Given the description of an element on the screen output the (x, y) to click on. 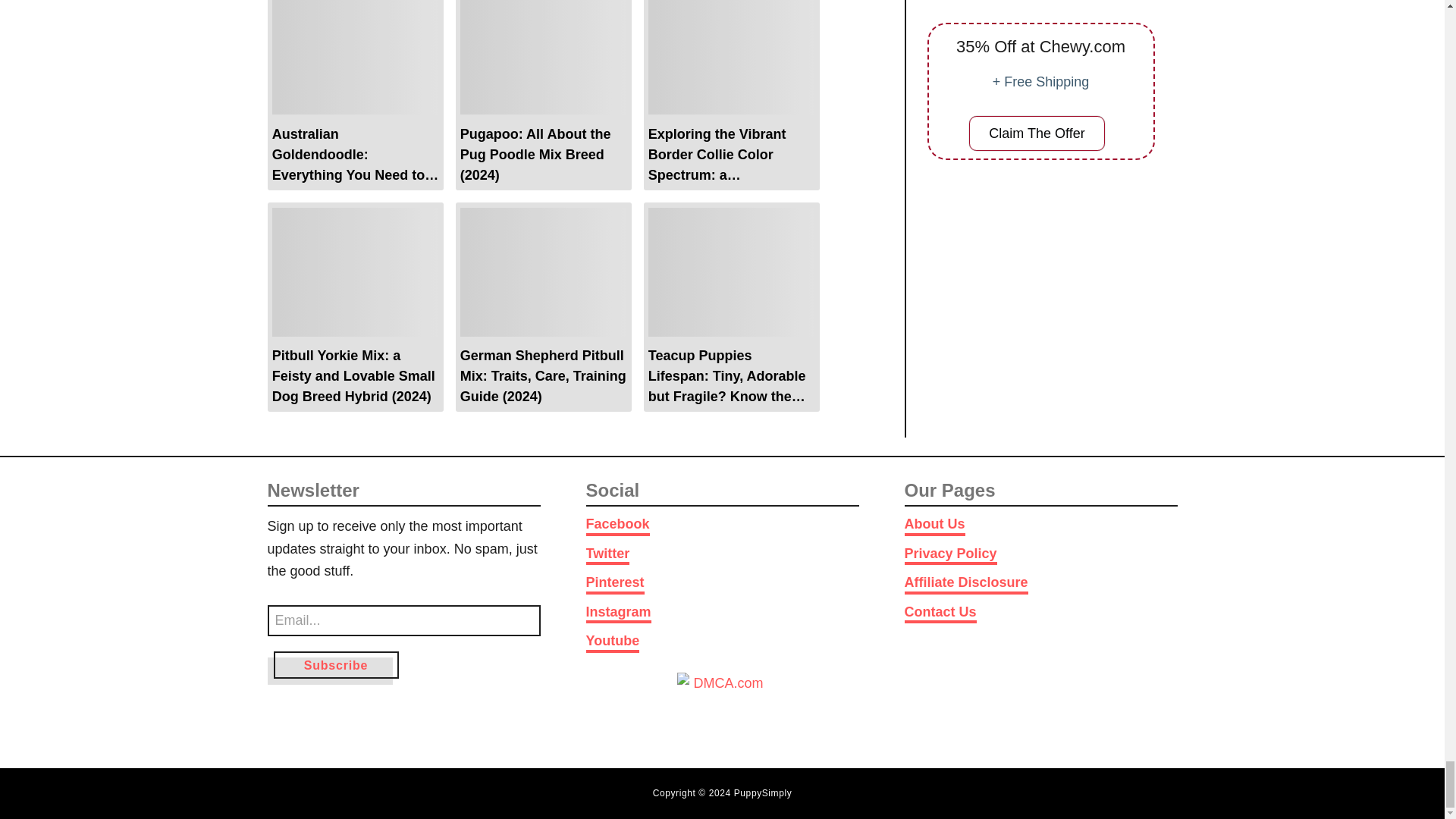
DMCA.com Protection Status (722, 705)
Subscribe (335, 664)
